Given the description of an element on the screen output the (x, y) to click on. 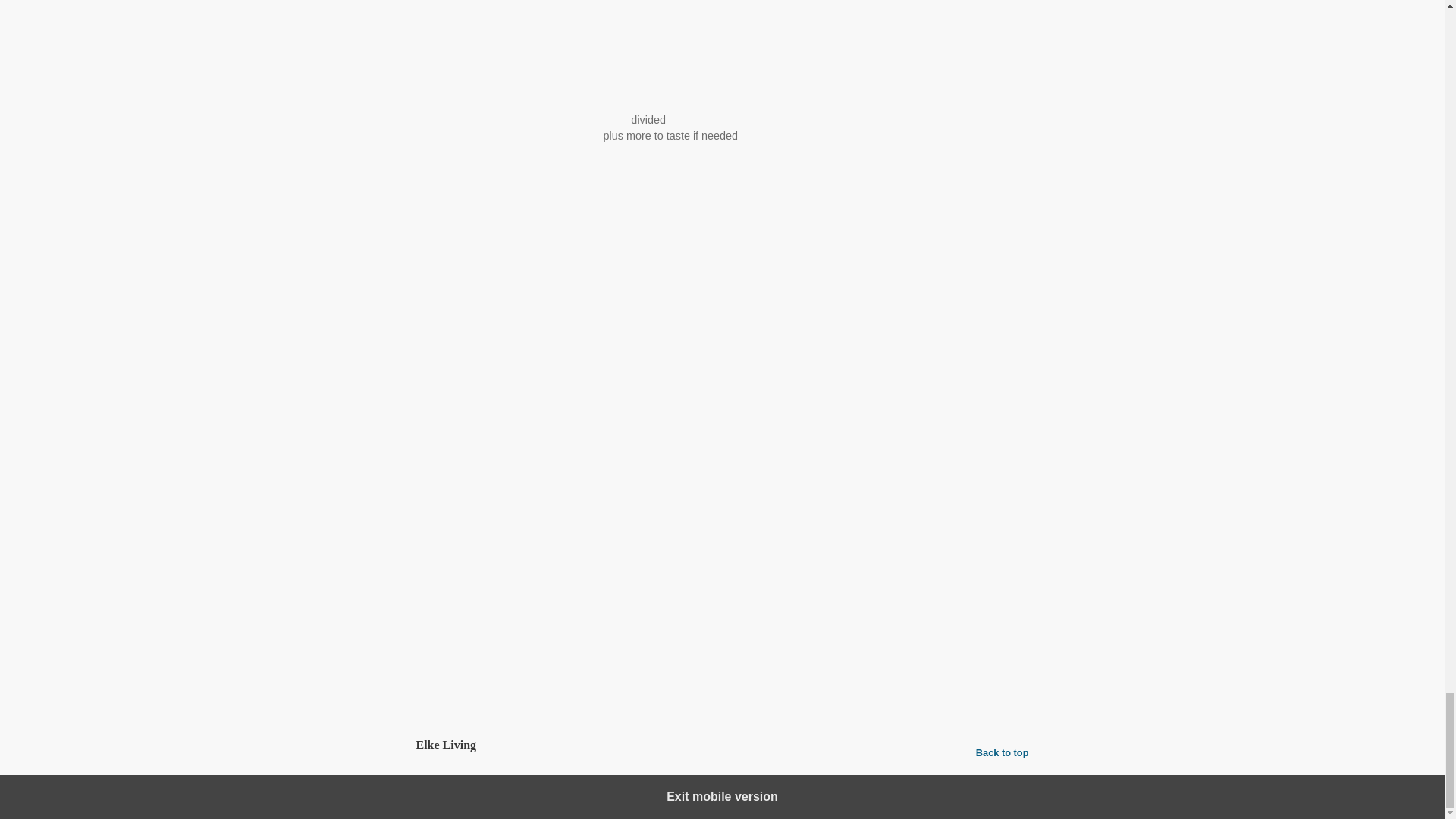
Side Items (511, 637)
Leave a Comment (721, 686)
Entree (488, 605)
Side Items (535, 605)
Vegetarian (591, 605)
Back to top (1002, 752)
Entrees (462, 637)
Vegetarian (568, 637)
